Given the description of an element on the screen output the (x, y) to click on. 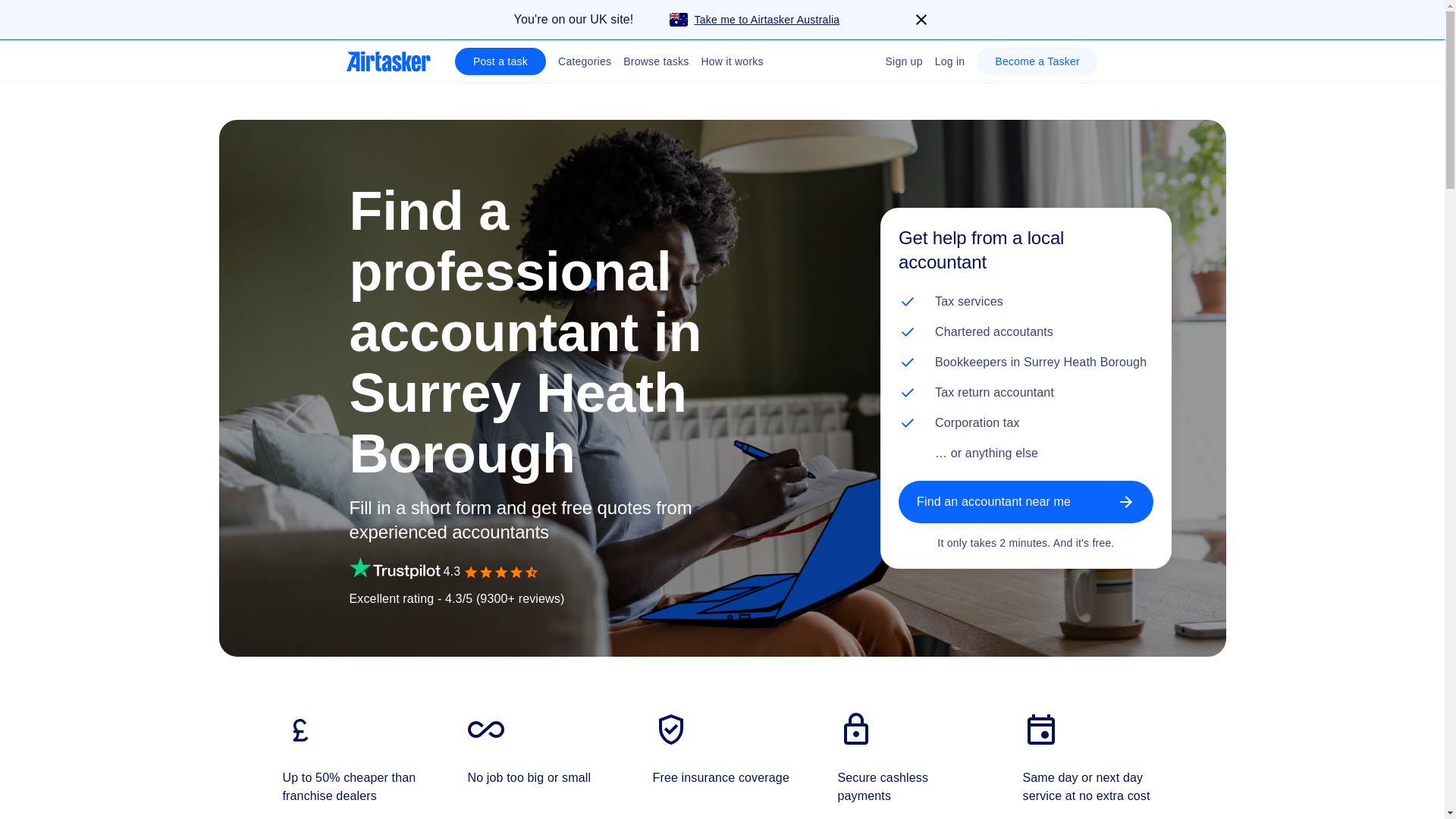
Categories (584, 61)
Take me to Airtasker Australia (736, 19)
Post a task (500, 61)
